Given the description of an element on the screen output the (x, y) to click on. 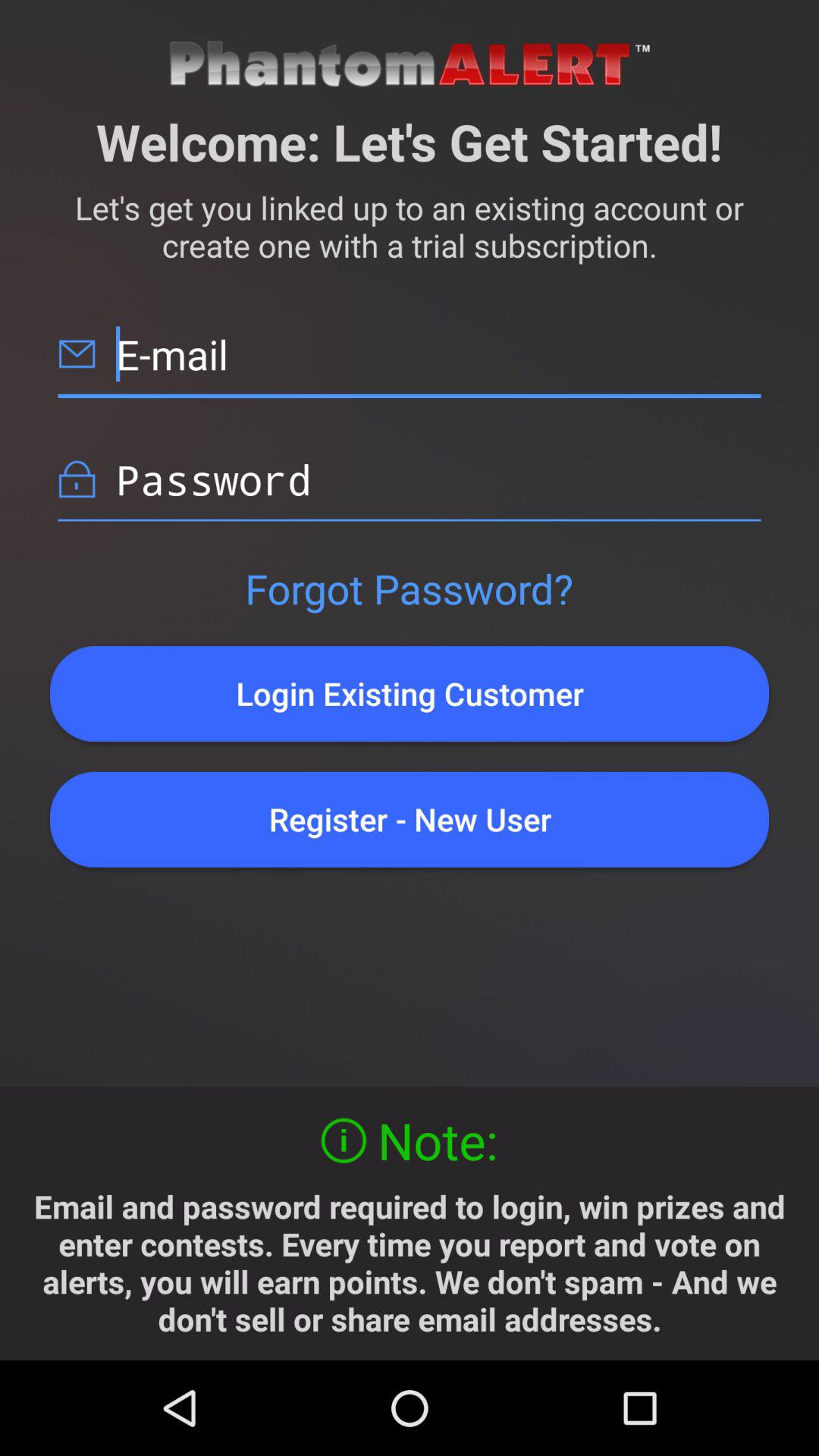
turn on login existing customer icon (409, 693)
